Given the description of an element on the screen output the (x, y) to click on. 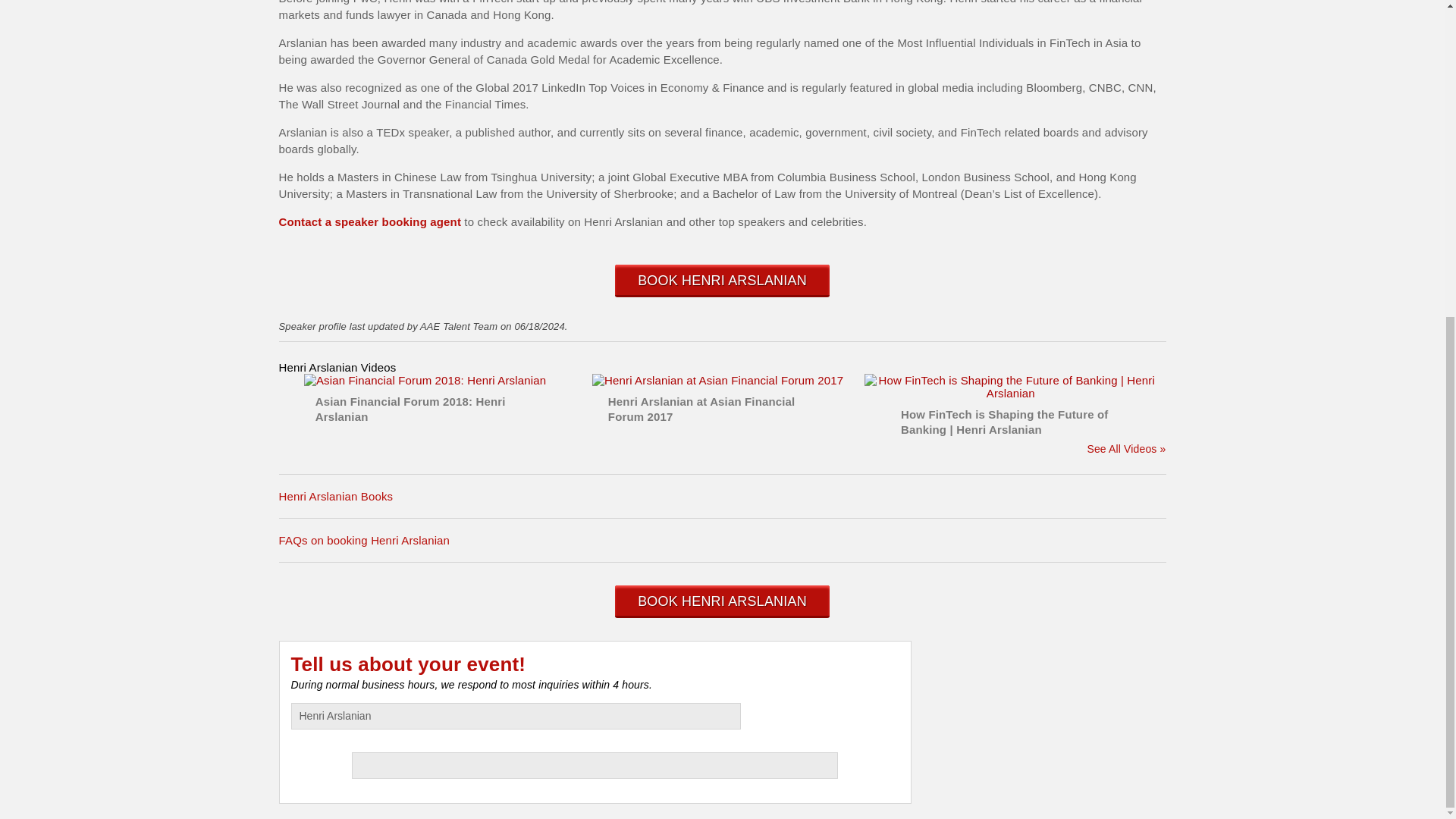
Henri Arslanian (516, 715)
